Given the description of an element on the screen output the (x, y) to click on. 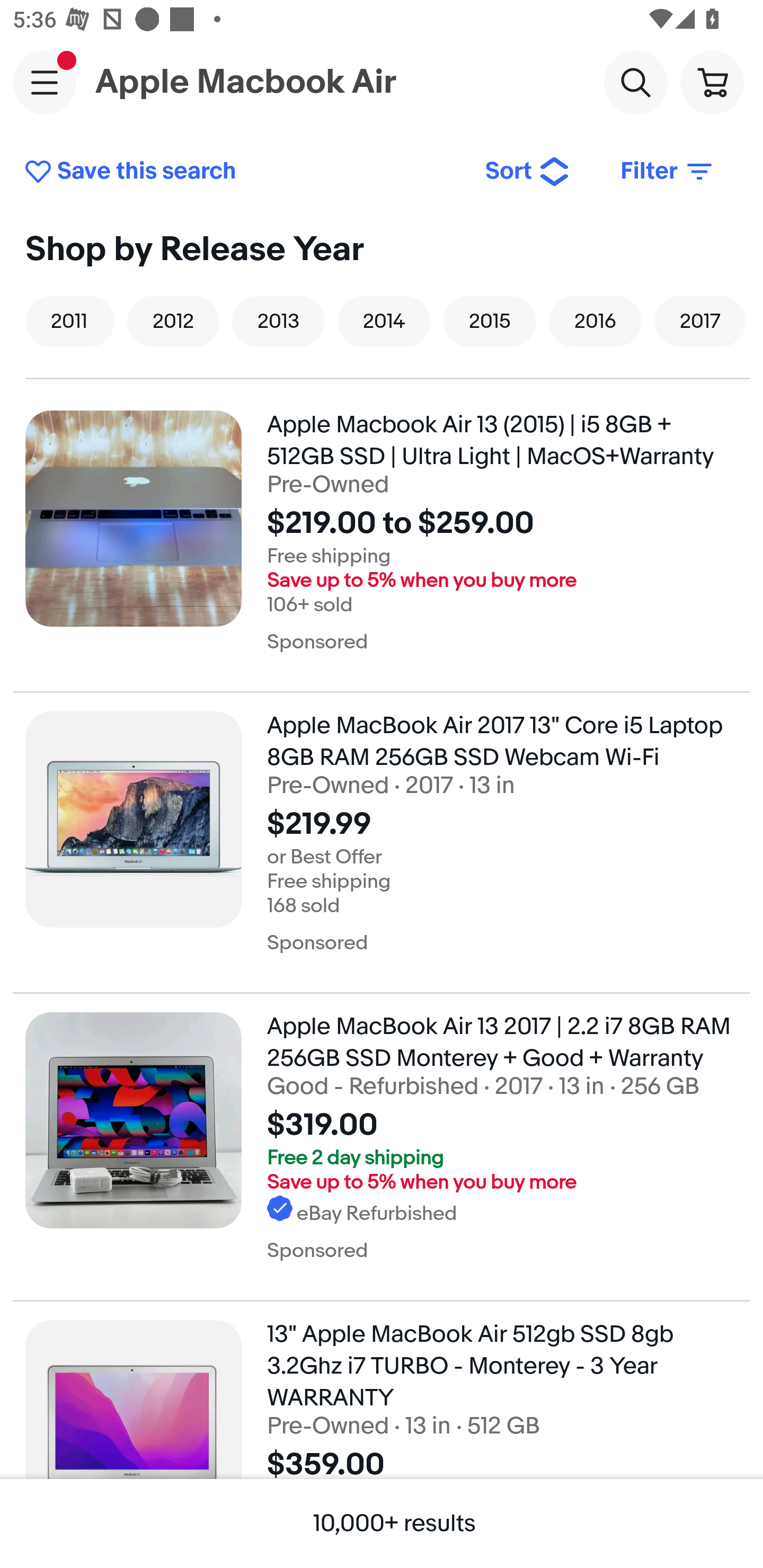
Main navigation, notification is pending, open (44, 82)
Search (635, 81)
Cart button shopping cart (711, 81)
Save this search (241, 171)
Sort (527, 171)
Filter (667, 171)
2011 2011, Release Year (69, 321)
2012 2012, Release Year (173, 321)
2013 2013, Release Year (278, 321)
2014 2014, Release Year (384, 321)
2015 2015, Release Year (489, 321)
2016 2016, Release Year (594, 321)
2017 2017, Release Year (700, 321)
